Given the description of an element on the screen output the (x, y) to click on. 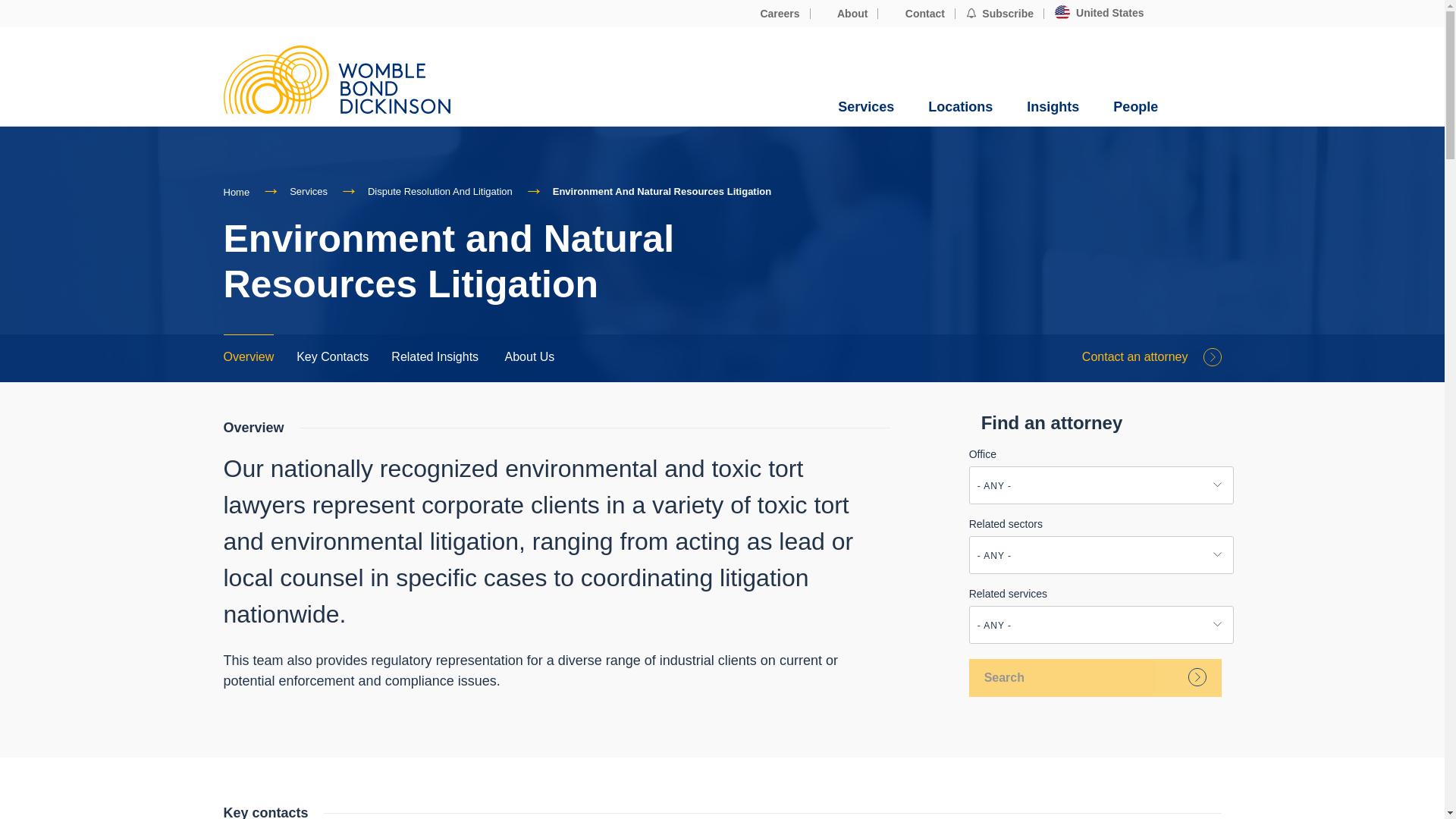
- Any - (1101, 625)
Locations (960, 107)
Careers (771, 13)
- Any - (1101, 485)
- Any - (1101, 555)
Services (865, 107)
United States (1098, 13)
Contact (916, 13)
Search (1095, 677)
About (844, 13)
